Given the description of an element on the screen output the (x, y) to click on. 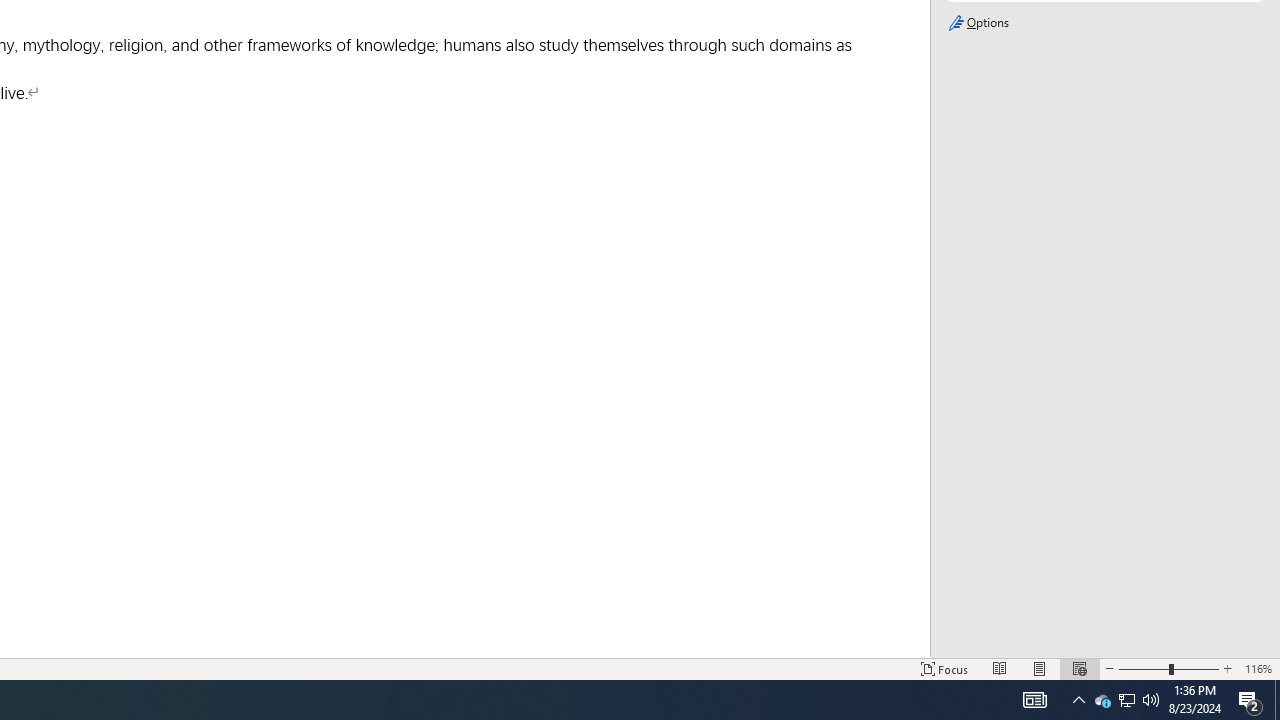
Web Layout (1079, 668)
Zoom 116% (1258, 668)
Zoom In (1227, 668)
Focus  (944, 668)
Zoom (1168, 668)
Options (1104, 23)
Read Mode (1000, 668)
Print Layout (1039, 668)
Zoom Out (1143, 668)
